Given the description of an element on the screen output the (x, y) to click on. 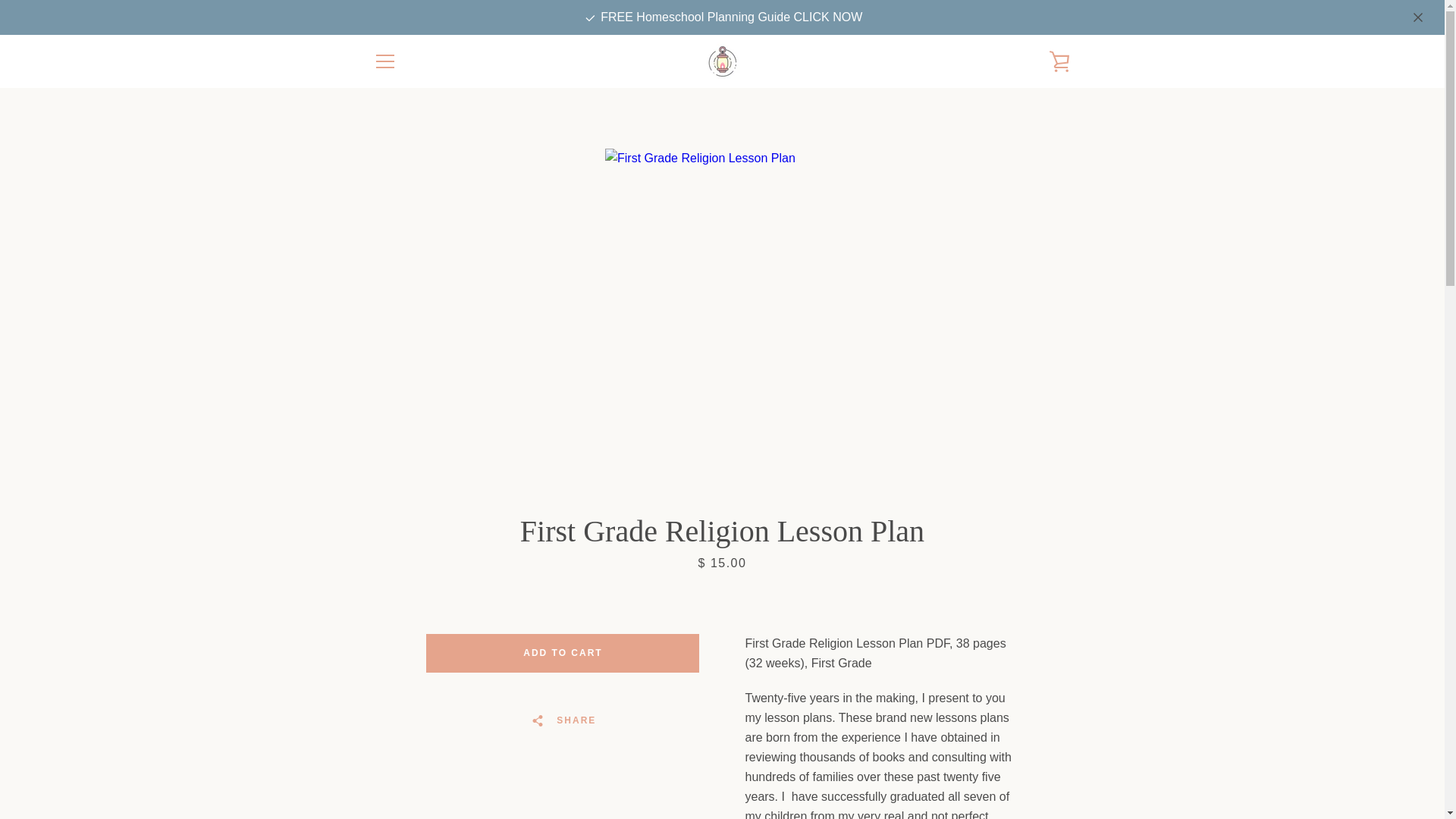
EXPAND NAVIGATION (384, 61)
VIEW CART (1059, 61)
SHARE (563, 720)
ADD TO CART (562, 652)
